Given the description of an element on the screen output the (x, y) to click on. 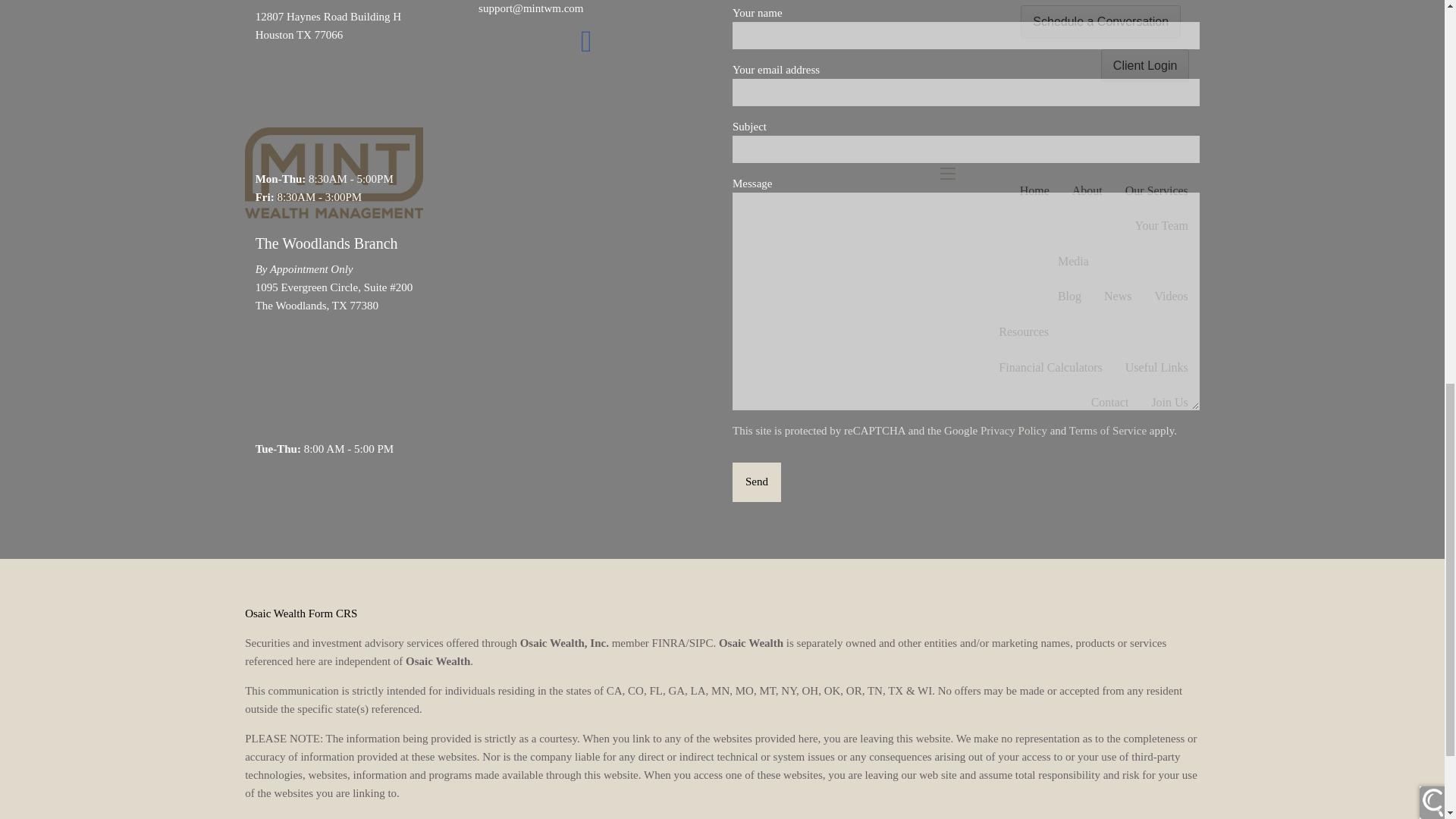
Send (756, 482)
Osaic Wealth Form CRS (300, 612)
Privacy Policy (1012, 430)
Send (756, 482)
Terms of Service (1107, 430)
